Given the description of an element on the screen output the (x, y) to click on. 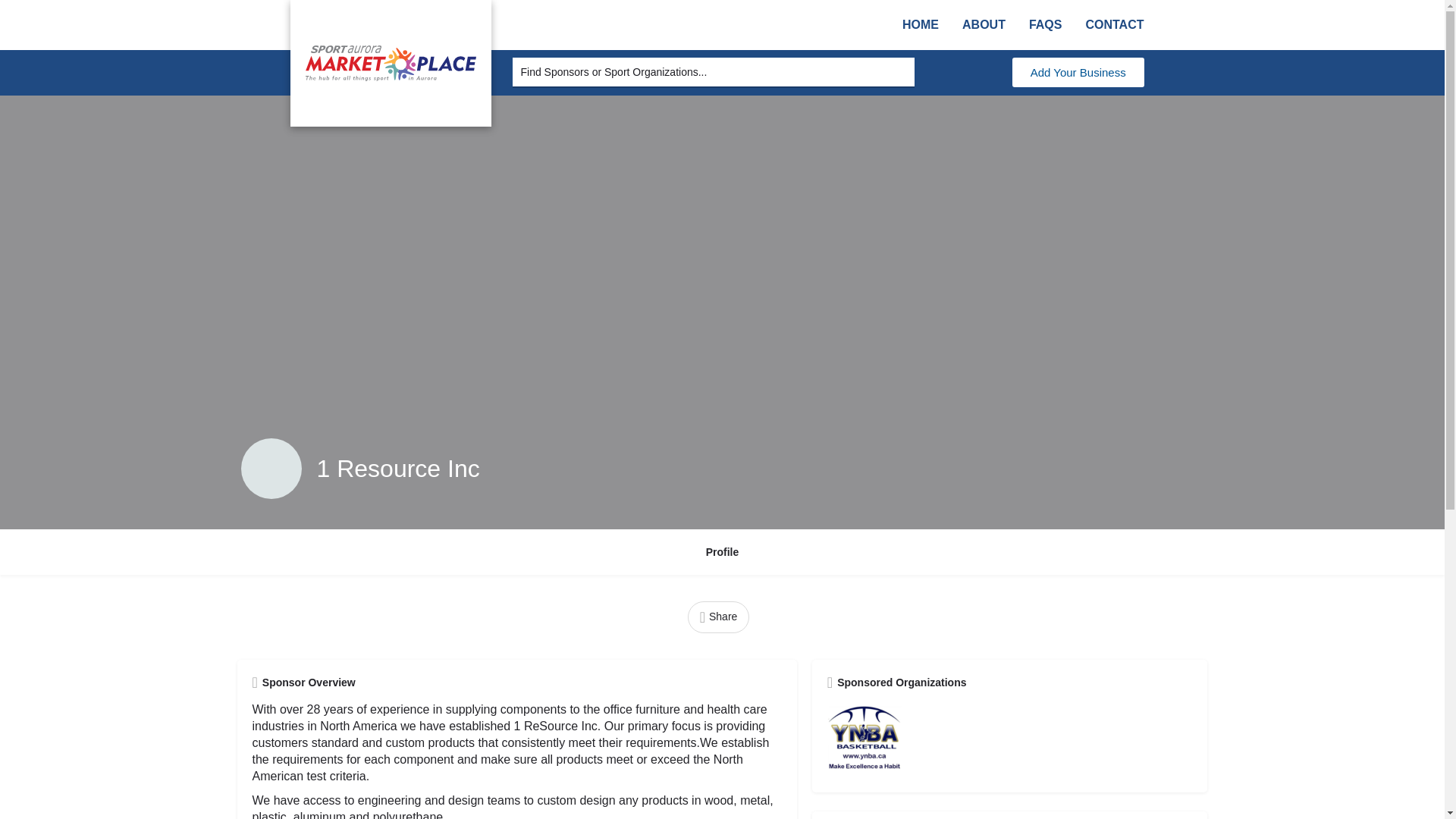
FAQS (1045, 24)
Share (718, 616)
CONTACT (1114, 24)
Add Your Business (1077, 71)
1 Resource (271, 468)
HOME (920, 24)
ABOUT (984, 24)
Profile (722, 551)
